Given the description of an element on the screen output the (x, y) to click on. 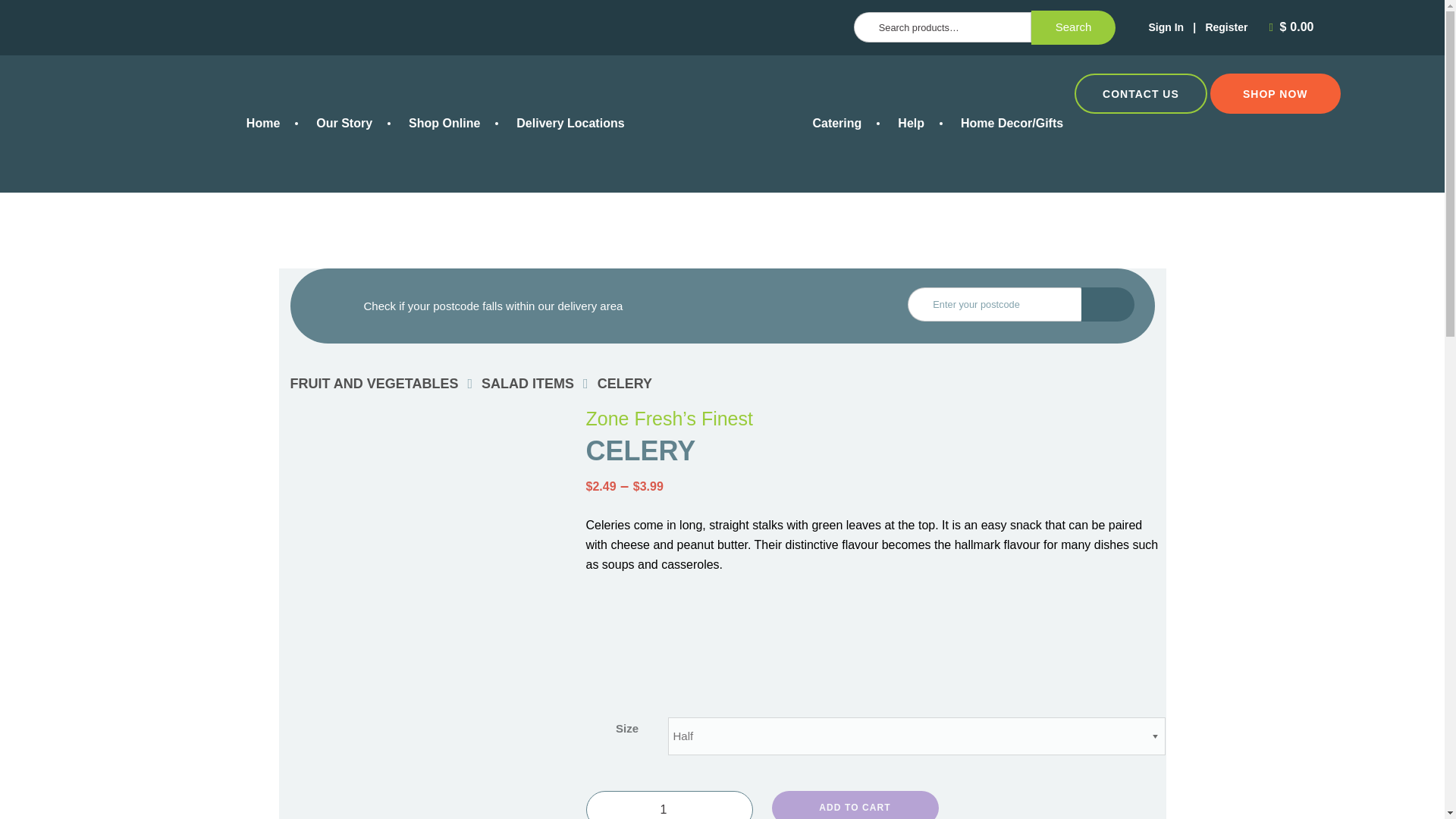
View your shopping cart (1293, 26)
Sign In (1165, 27)
FRUIT AND VEGETABLES (373, 383)
CONTACT US (1140, 92)
Register (1226, 27)
ADD TO CART (855, 805)
Our Story (344, 123)
Help (910, 123)
Search (1073, 27)
1 (668, 805)
SHOP NOW (1274, 92)
Home (263, 123)
Delivery Locations (569, 123)
SALAD ITEMS (527, 383)
Shop Online (443, 123)
